Given the description of an element on the screen output the (x, y) to click on. 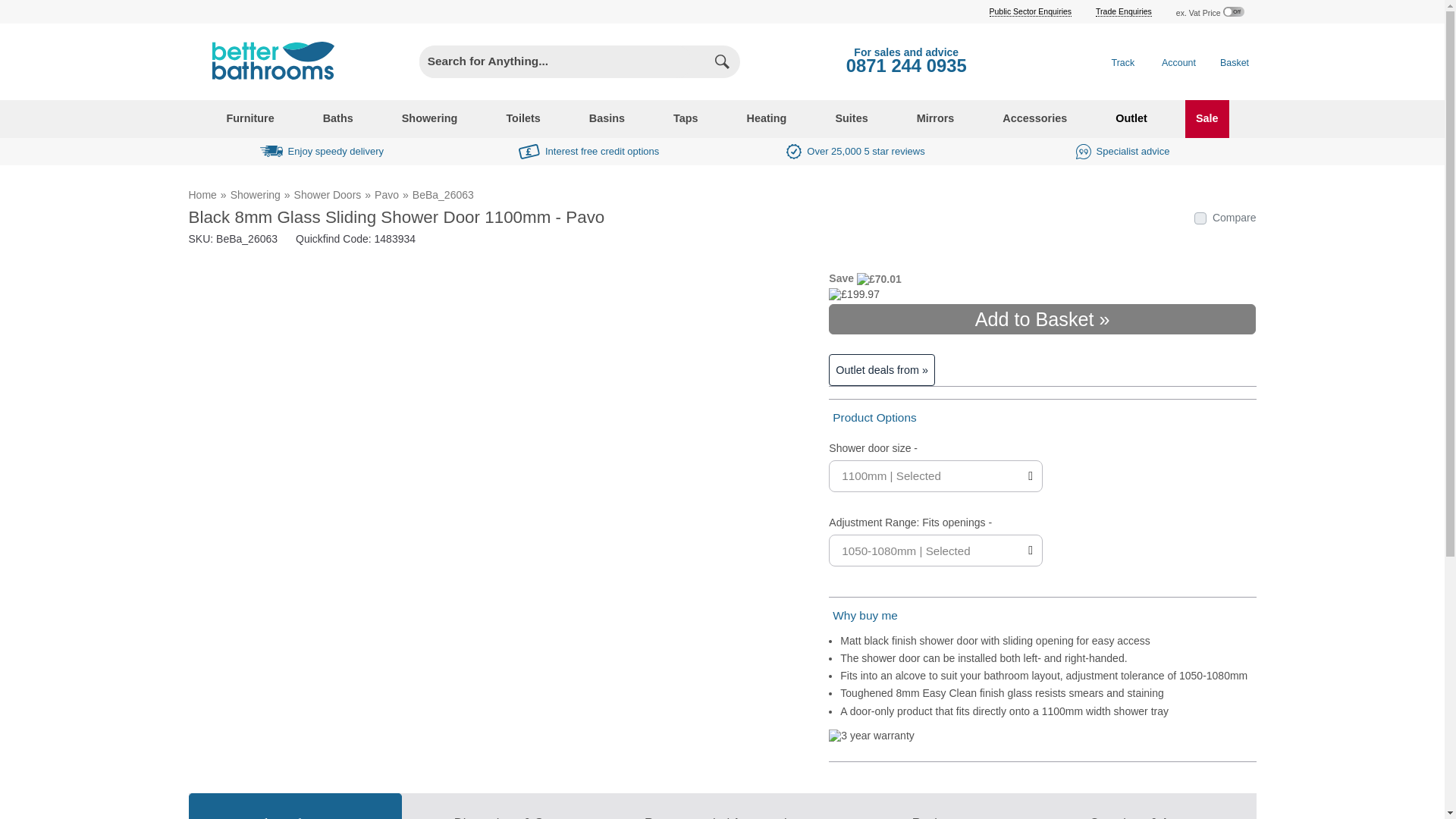
Trade Enquiries (1123, 11)
Public Sector Enquiries (1030, 11)
Search (723, 61)
Trade Enquiries (1123, 11)
Your basket contains (1234, 61)
Pavo (386, 194)
Better Bathrooms (268, 61)
Search for Anything... (555, 61)
Add to Basket (1041, 318)
Showering (255, 194)
Shower Doors (327, 194)
Search for Anything... (555, 61)
